Given the description of an element on the screen output the (x, y) to click on. 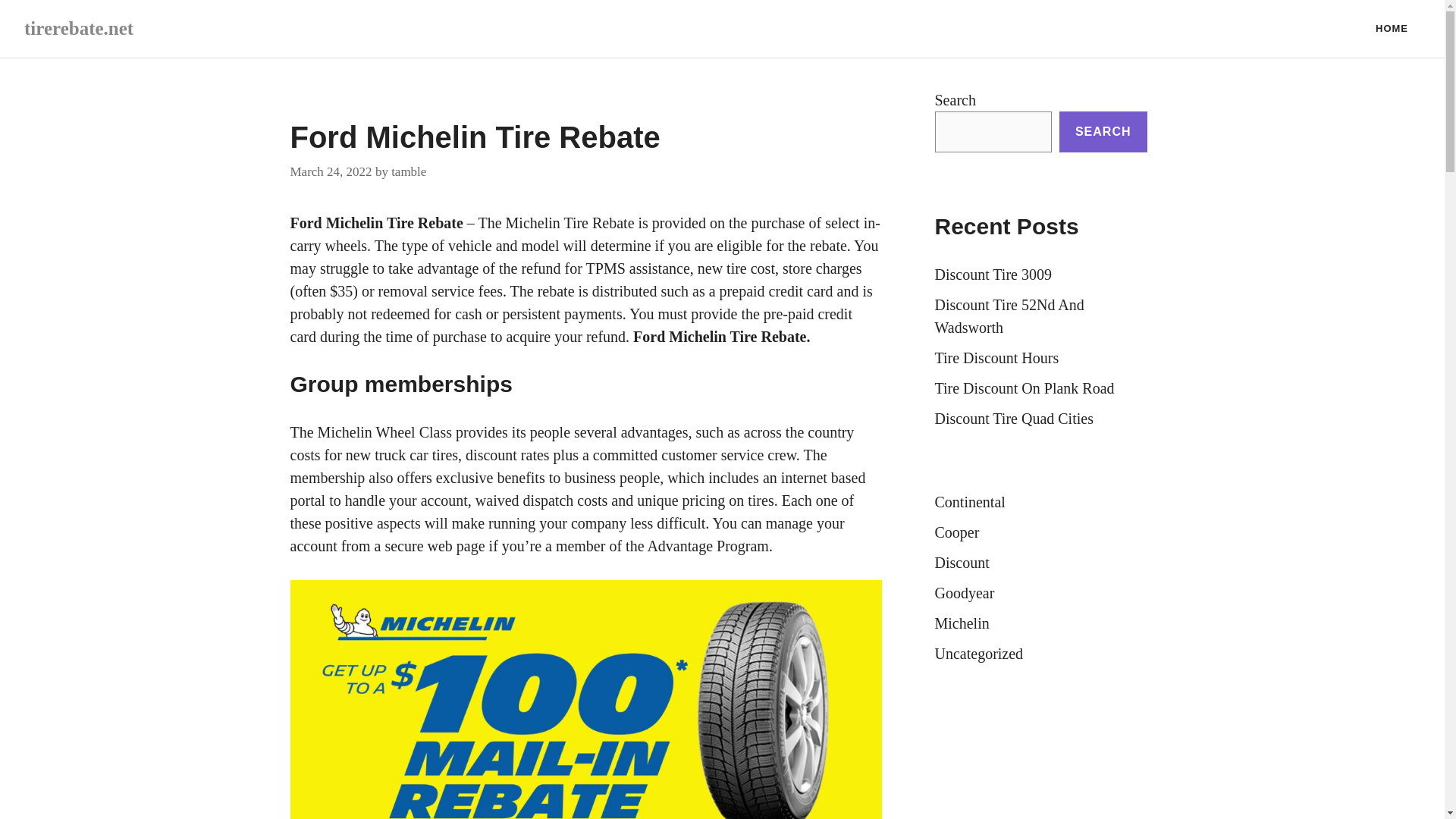
Cooper (956, 532)
Tire Discount On Plank Road (1023, 388)
SEARCH (1103, 131)
Continental (969, 501)
Uncategorized (978, 653)
tamble (408, 170)
Discount (961, 562)
Discount Tire 52Nd And Wadsworth (1008, 315)
Michelin (961, 623)
Tire Discount Hours (996, 357)
Discount Tire 3009 (992, 274)
HOME (1391, 28)
tirerebate.net (78, 28)
View all posts by tamble (408, 170)
Goodyear (964, 592)
